Given the description of an element on the screen output the (x, y) to click on. 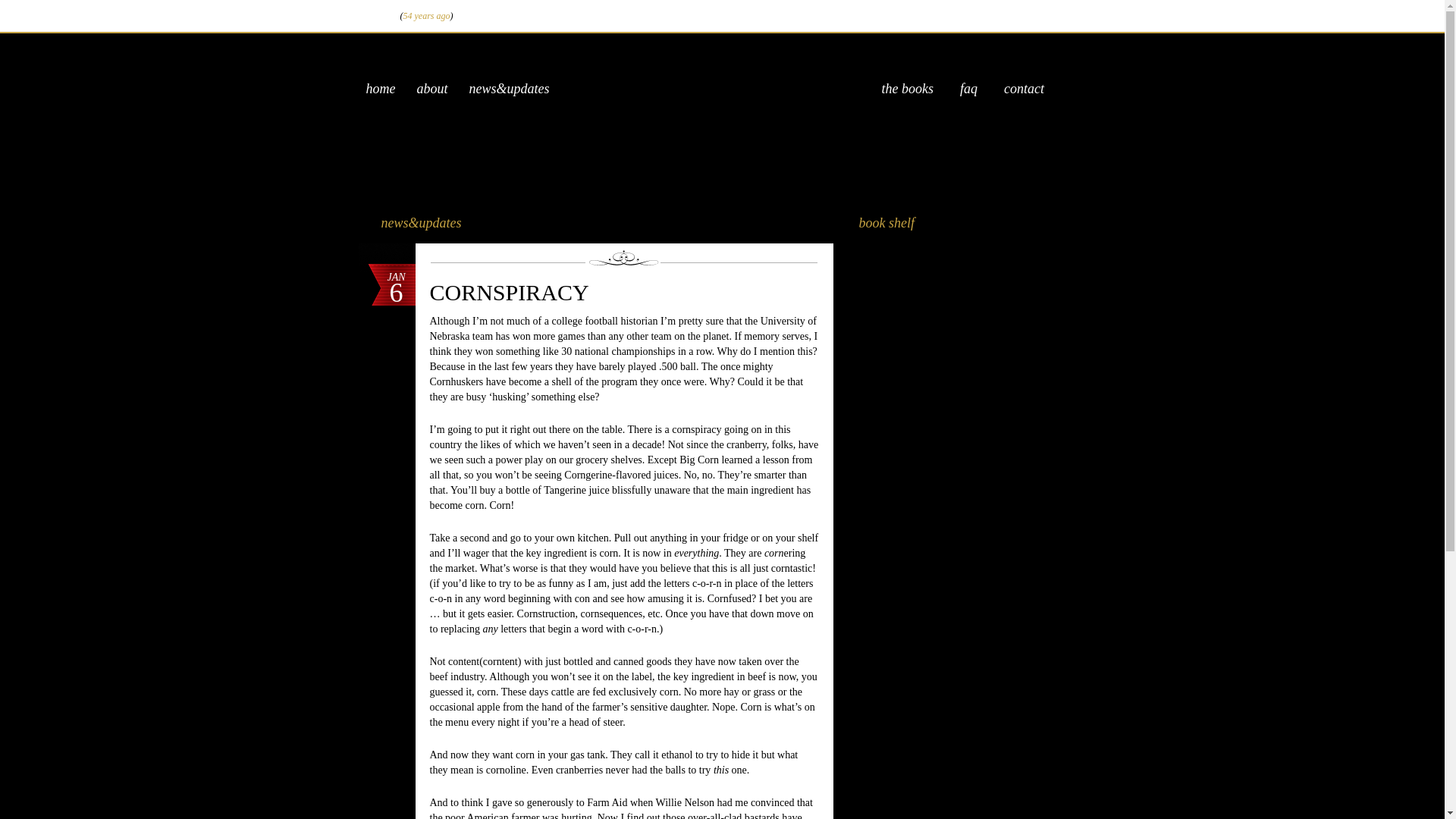
Twitter (967, 14)
about (432, 88)
Gettr (947, 14)
Lance Manion (722, 89)
contact (1023, 88)
the books (906, 88)
LinkedIn (1033, 14)
home (379, 88)
faq (967, 88)
Rss (1078, 14)
Instagram (1013, 14)
Facebook (989, 14)
Pinterest (1056, 14)
